Given the description of an element on the screen output the (x, y) to click on. 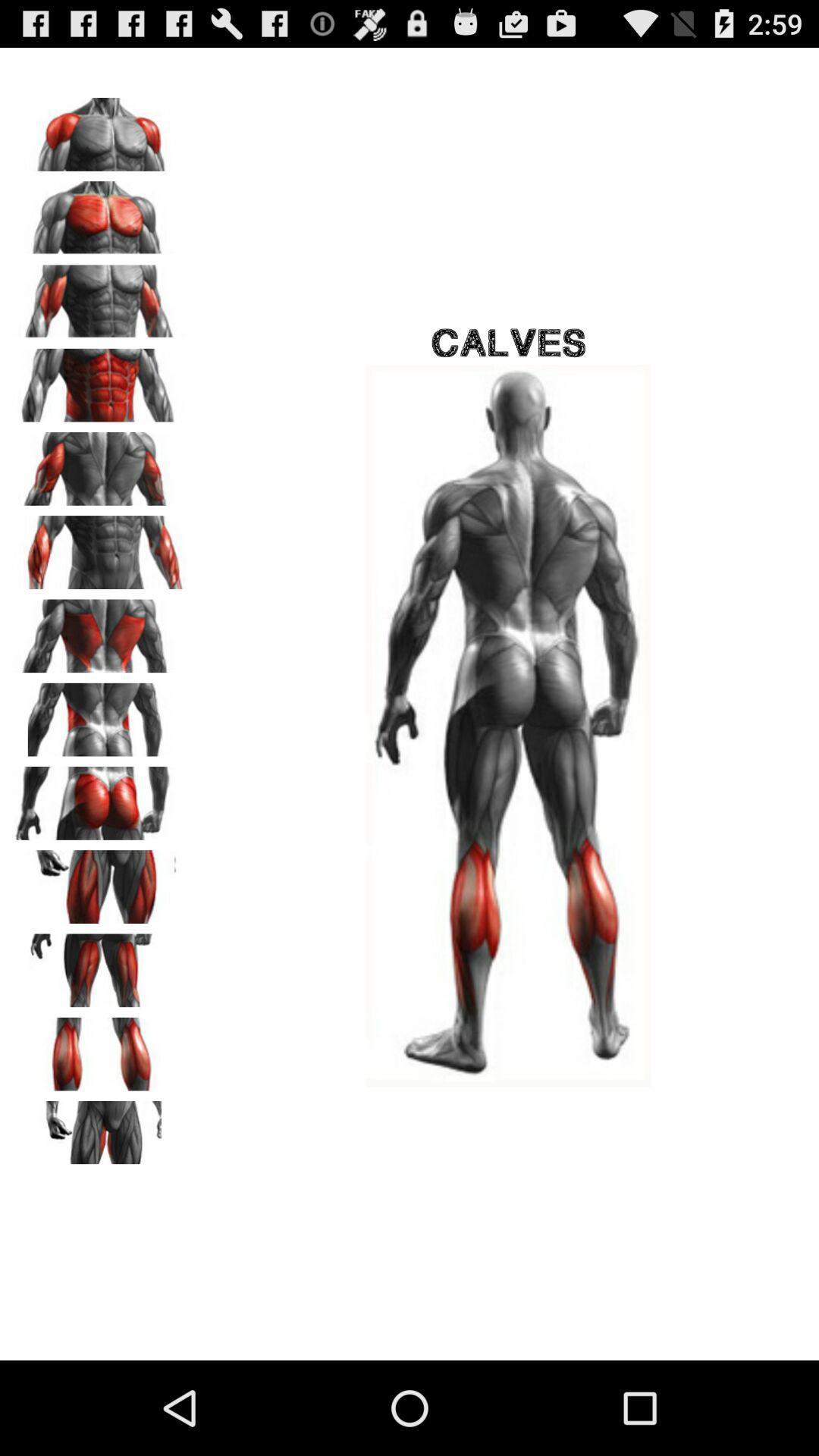
click to select (99, 1132)
